Given the description of an element on the screen output the (x, y) to click on. 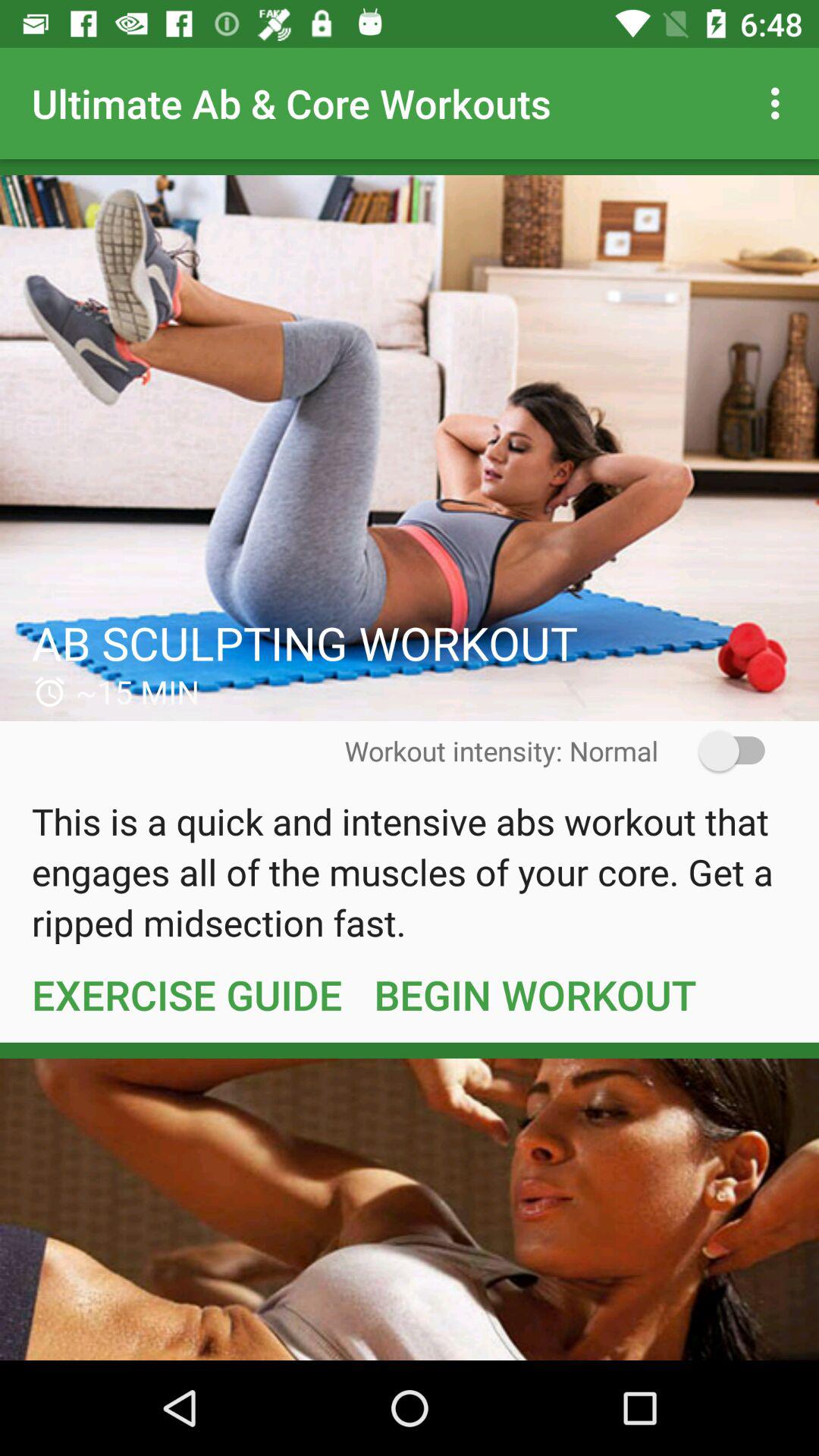
turn on item next to workout intensity: normal item (722, 750)
